Given the description of an element on the screen output the (x, y) to click on. 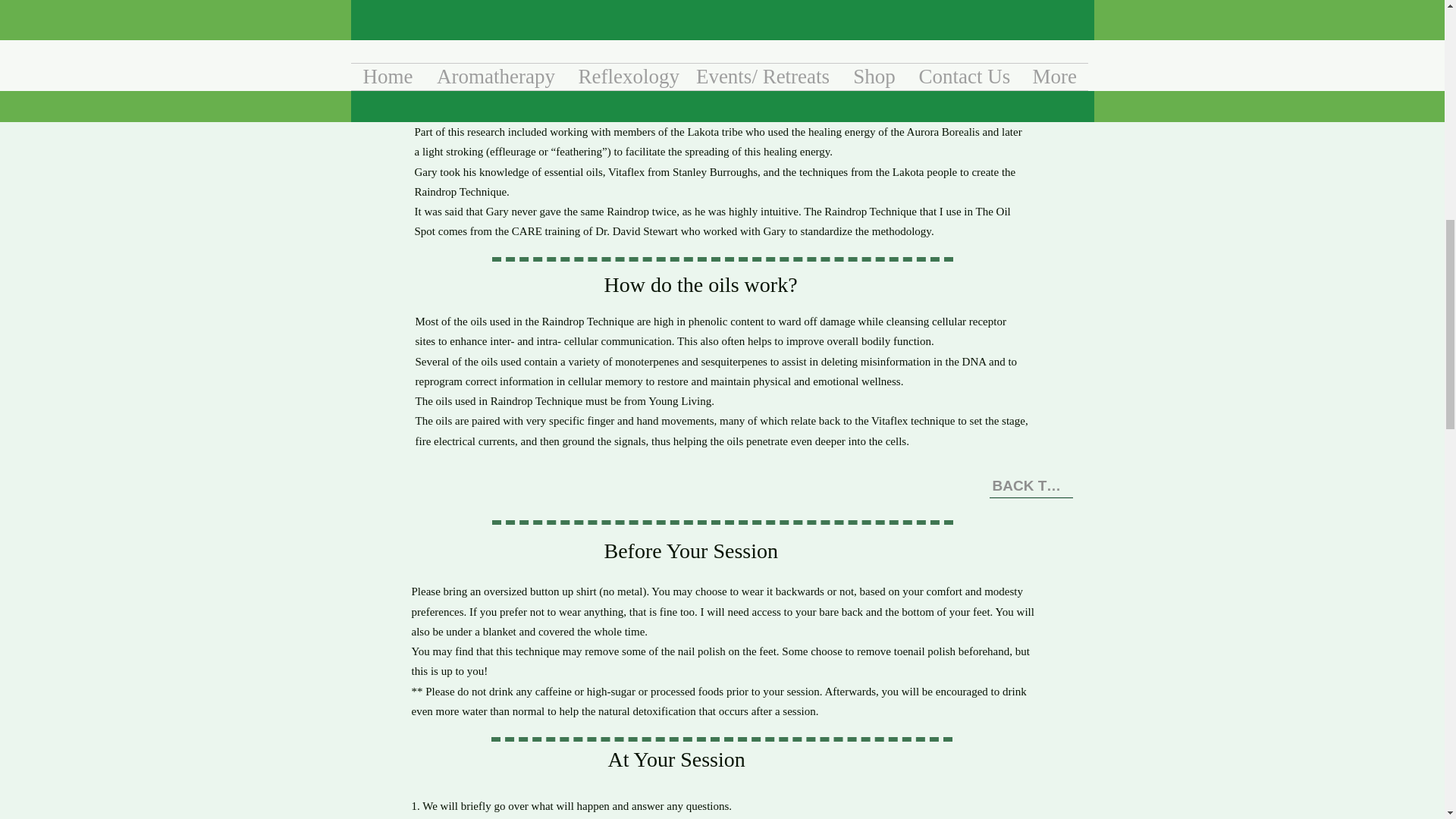
BACK TO TOP (1029, 486)
